Given the description of an element on the screen output the (x, y) to click on. 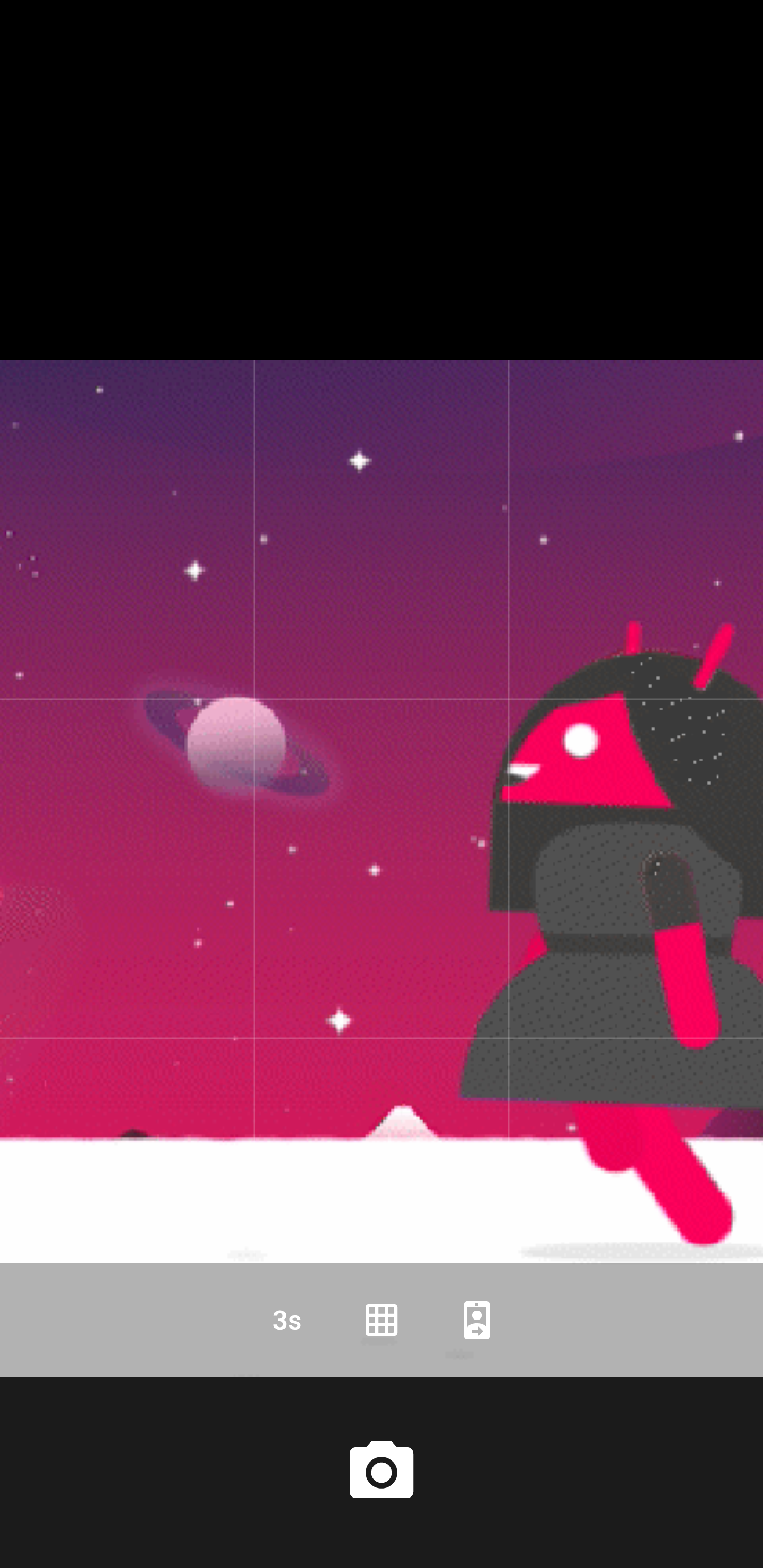
Countdown timer duration is set to 3 seconds (285, 1319)
Grid lines on (381, 1319)
Front camera (476, 1319)
Shutter (381, 1472)
